Given the description of an element on the screen output the (x, y) to click on. 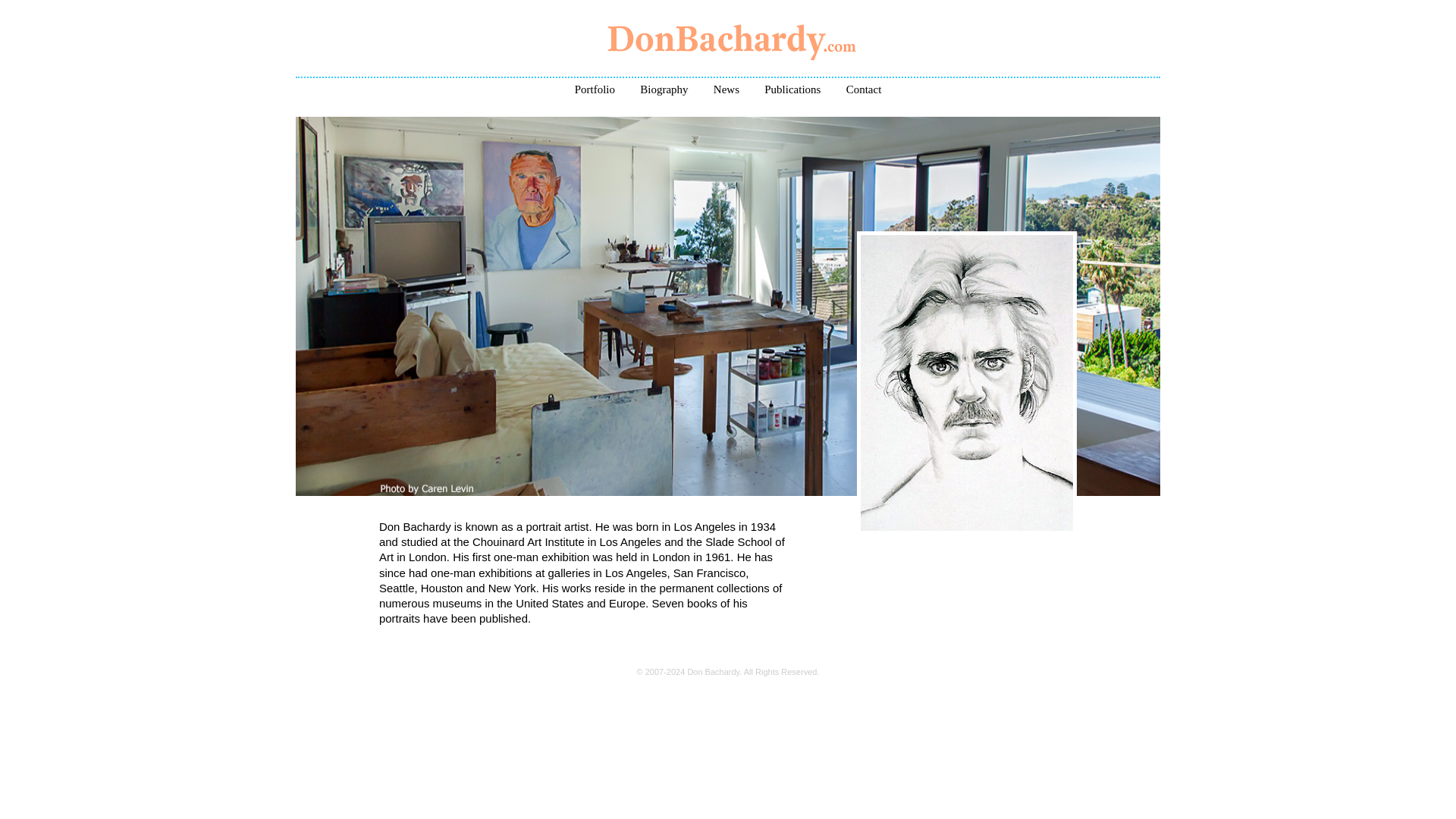
Don Bachardy Contact Information (863, 89)
Don Bachardy News (726, 89)
Don Bachardy Publications (792, 89)
Portfolio (594, 89)
Biography (663, 89)
Don Bachardy Biography (663, 89)
www.donbachardy.com (727, 55)
Publications (792, 89)
Don Bachardy Biography (594, 89)
Contact (863, 89)
